Given the description of an element on the screen output the (x, y) to click on. 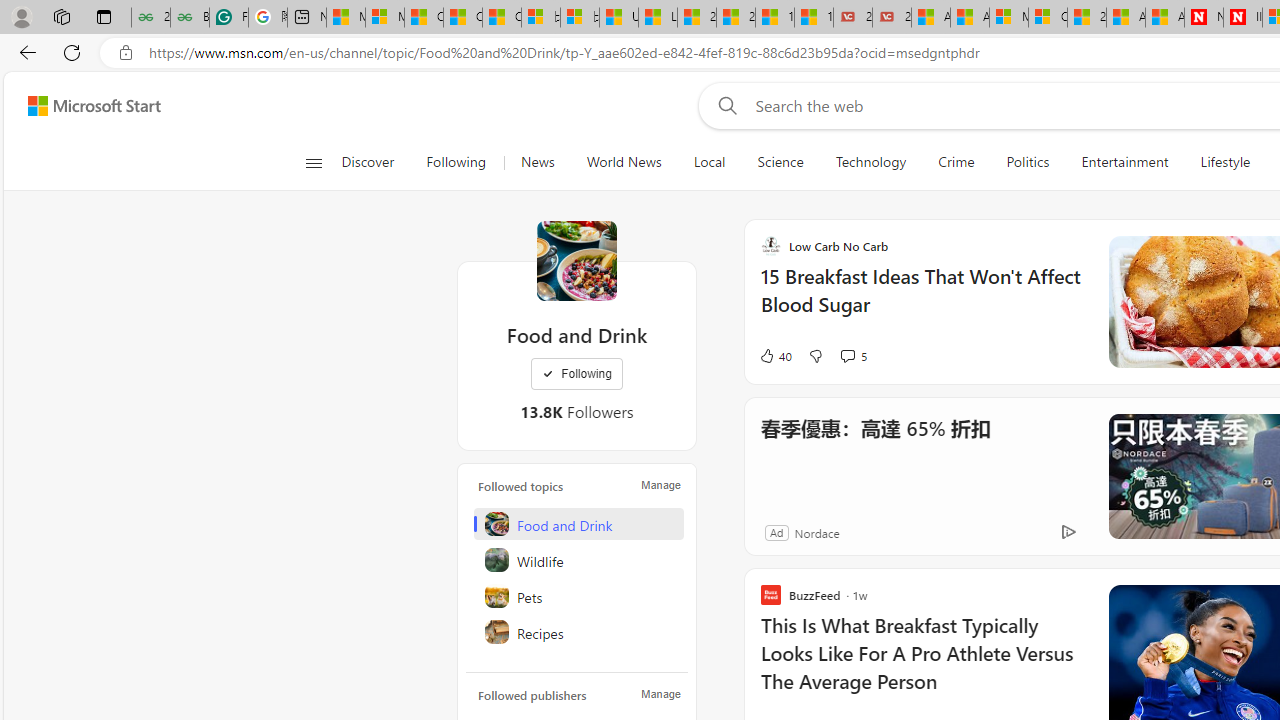
15 Ways Modern Life Contradicts the Teachings of Jesus (813, 17)
21 Movies That Outdid the Books They Were Based On (892, 17)
USA TODAY - MSN (618, 17)
Lifestyle - MSN (657, 17)
Illness news & latest pictures from Newsweek.com (1242, 17)
